Given the description of an element on the screen output the (x, y) to click on. 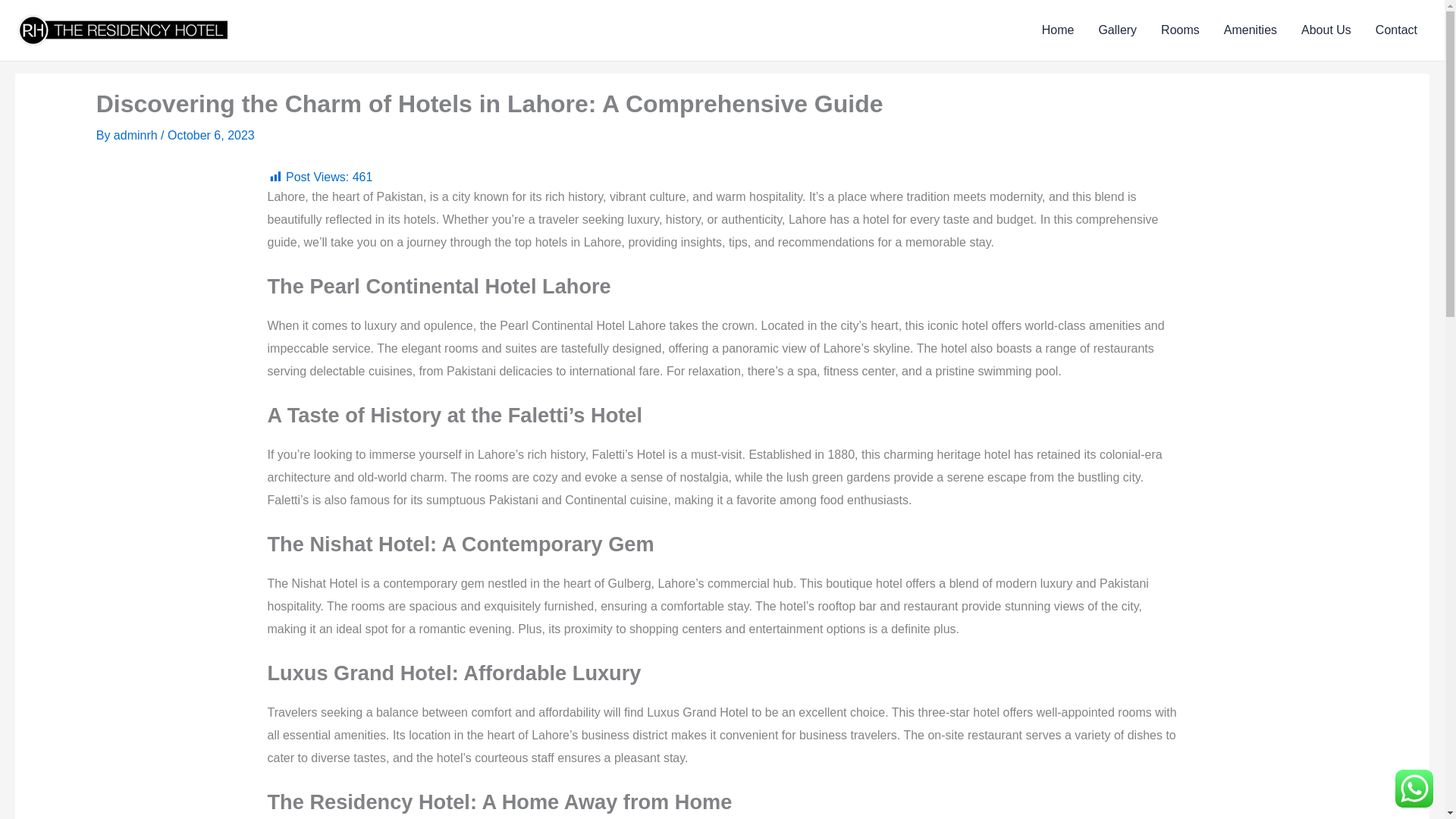
Contact (1395, 30)
Gallery (1117, 30)
Amenities (1249, 30)
About Us (1325, 30)
Home (1057, 30)
adminrh (136, 134)
View all posts by adminrh (136, 134)
Rooms (1179, 30)
